Given the description of an element on the screen output the (x, y) to click on. 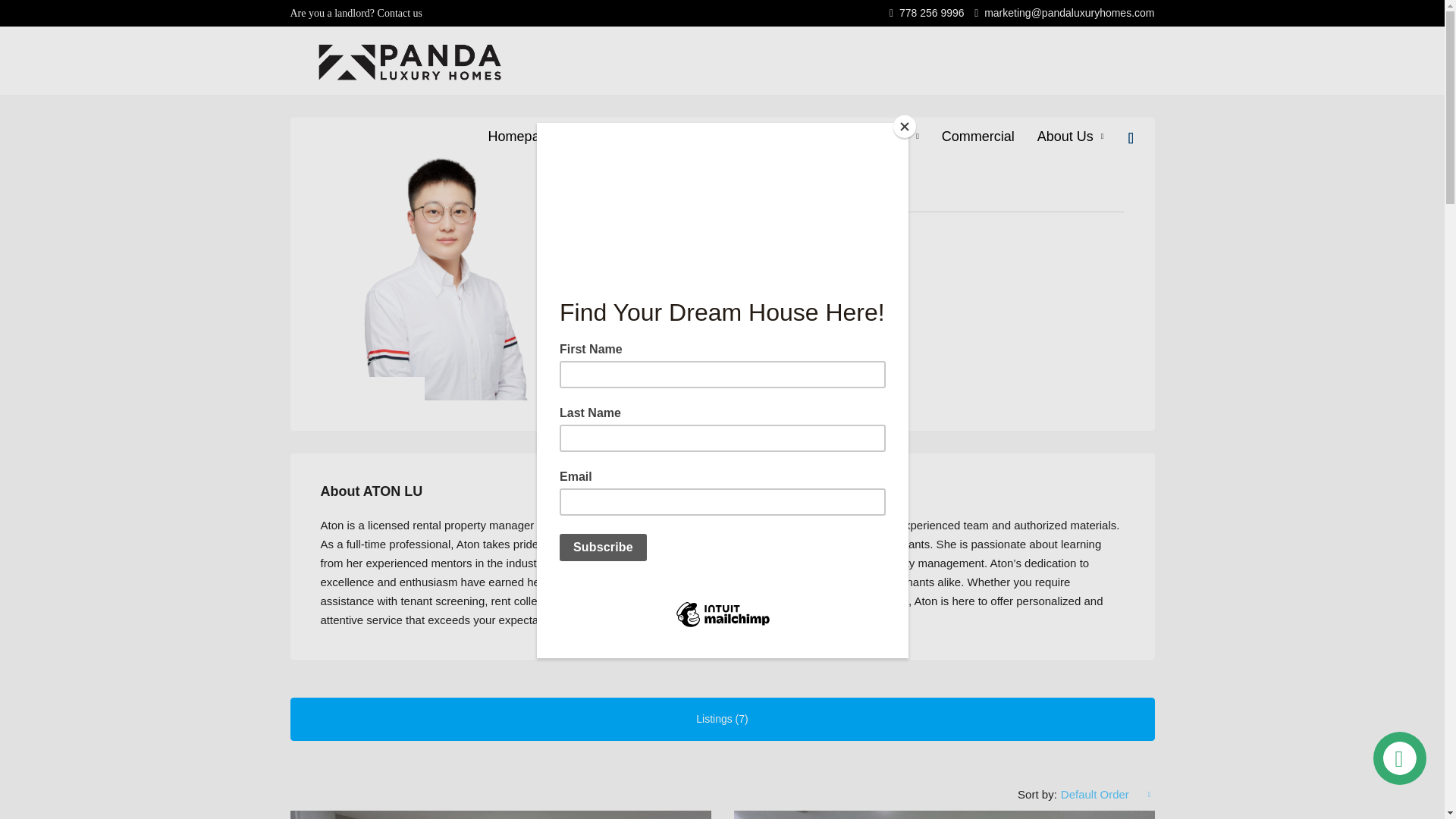
Homepage (521, 136)
About Us (1070, 136)
Strata Mgmt (876, 136)
Property Mgmt (761, 136)
Property Trading (633, 136)
Default Order (1105, 794)
778 256 9996 (926, 12)
Commercial (978, 136)
